Given the description of an element on the screen output the (x, y) to click on. 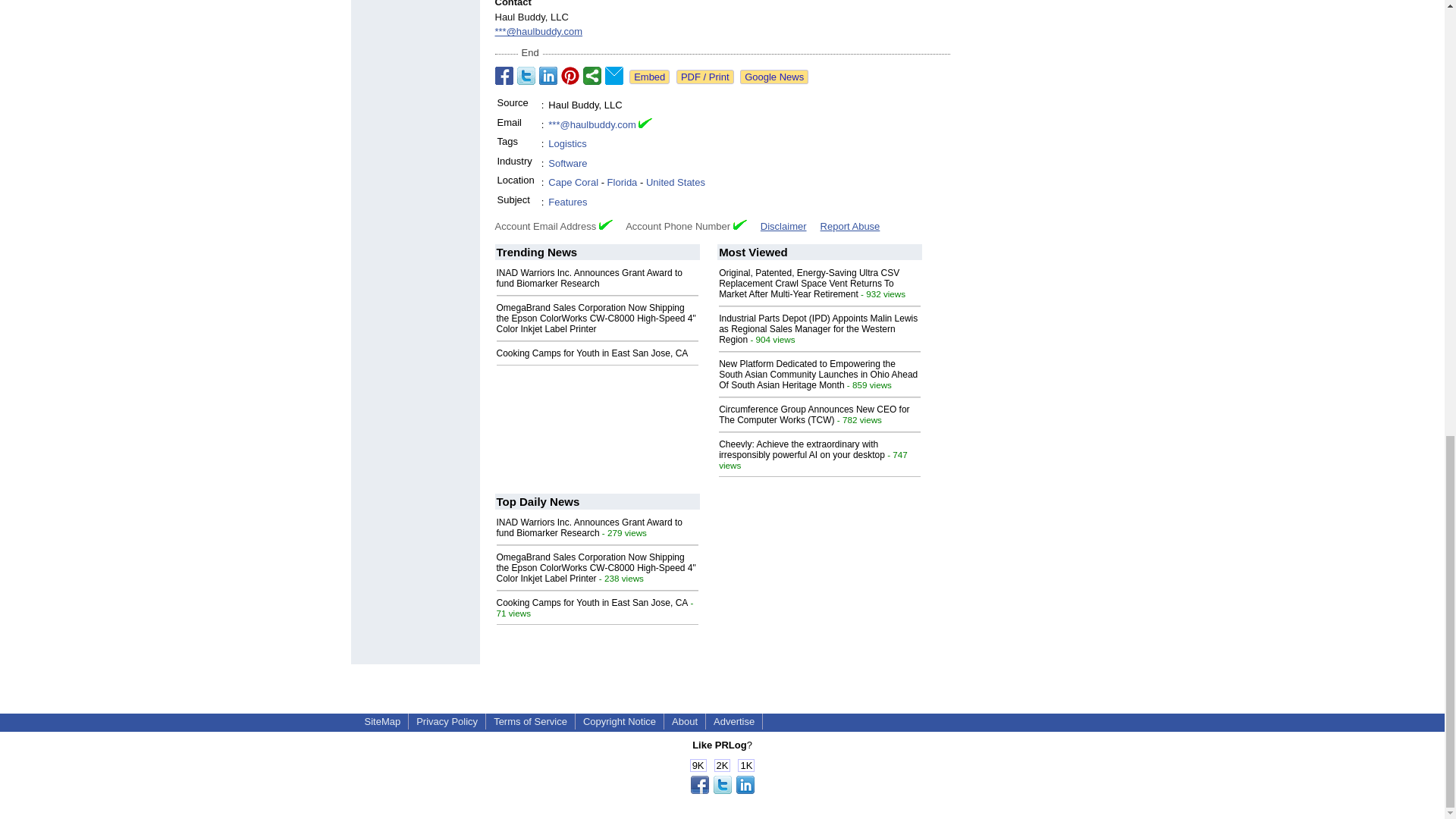
Email to a Friend (614, 75)
Share on StumbleUpon, Digg, etc (590, 75)
Share on Pinterest (569, 75)
Verified (605, 225)
Share on LinkedIn (547, 75)
Share this page! (722, 790)
Embed (648, 76)
See or print the PDF version! (705, 76)
Embed this press release in your website! (648, 76)
Share on Facebook (503, 75)
Verified (739, 225)
Share on Twitter (525, 75)
Email Verified (645, 124)
